Given the description of an element on the screen output the (x, y) to click on. 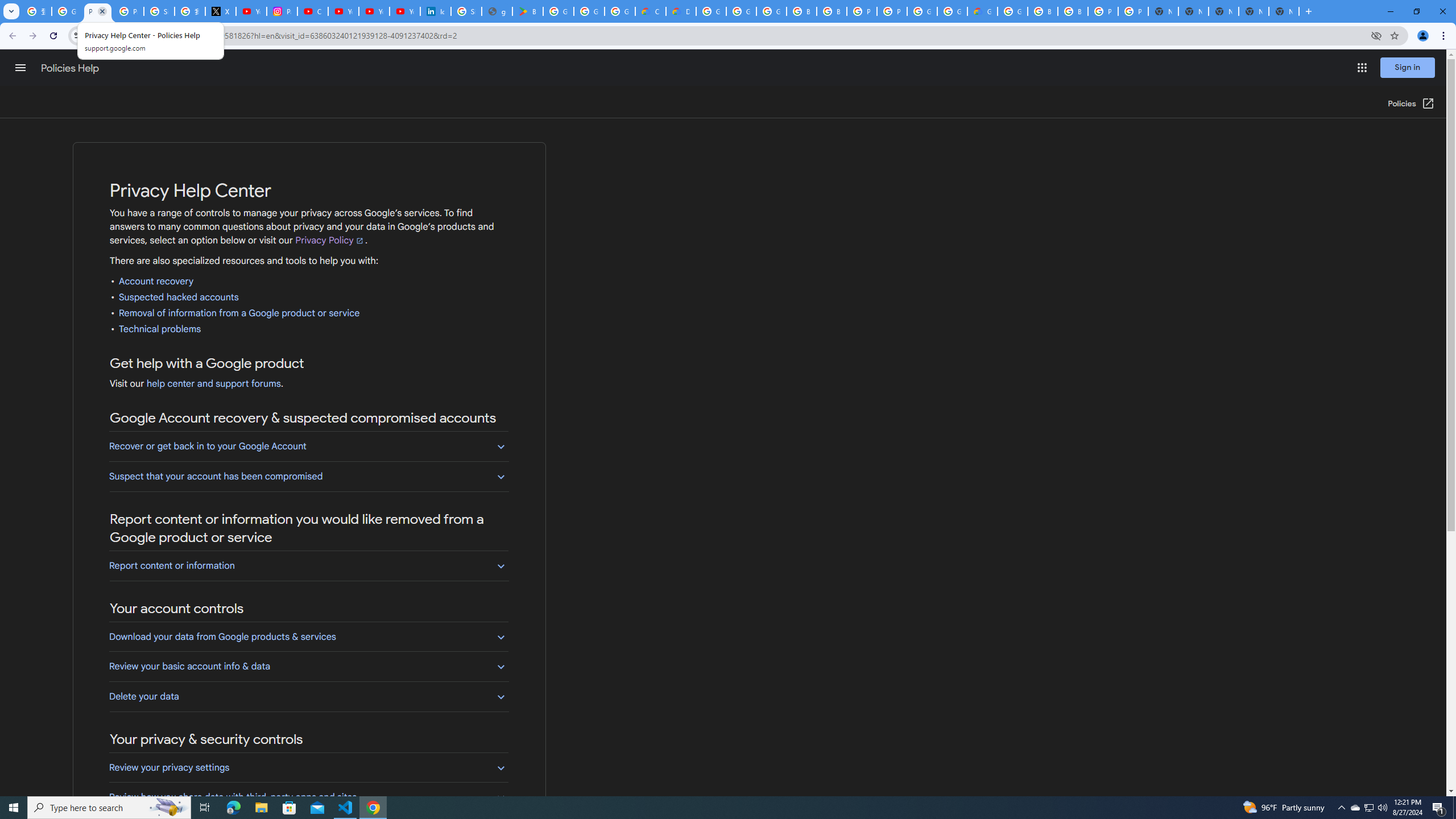
Customer Care | Google Cloud (650, 11)
Google Cloud Estimate Summary (982, 11)
Google Cloud Platform (1012, 11)
Suspect that your account has been compromised (308, 476)
